Given the description of an element on the screen output the (x, y) to click on. 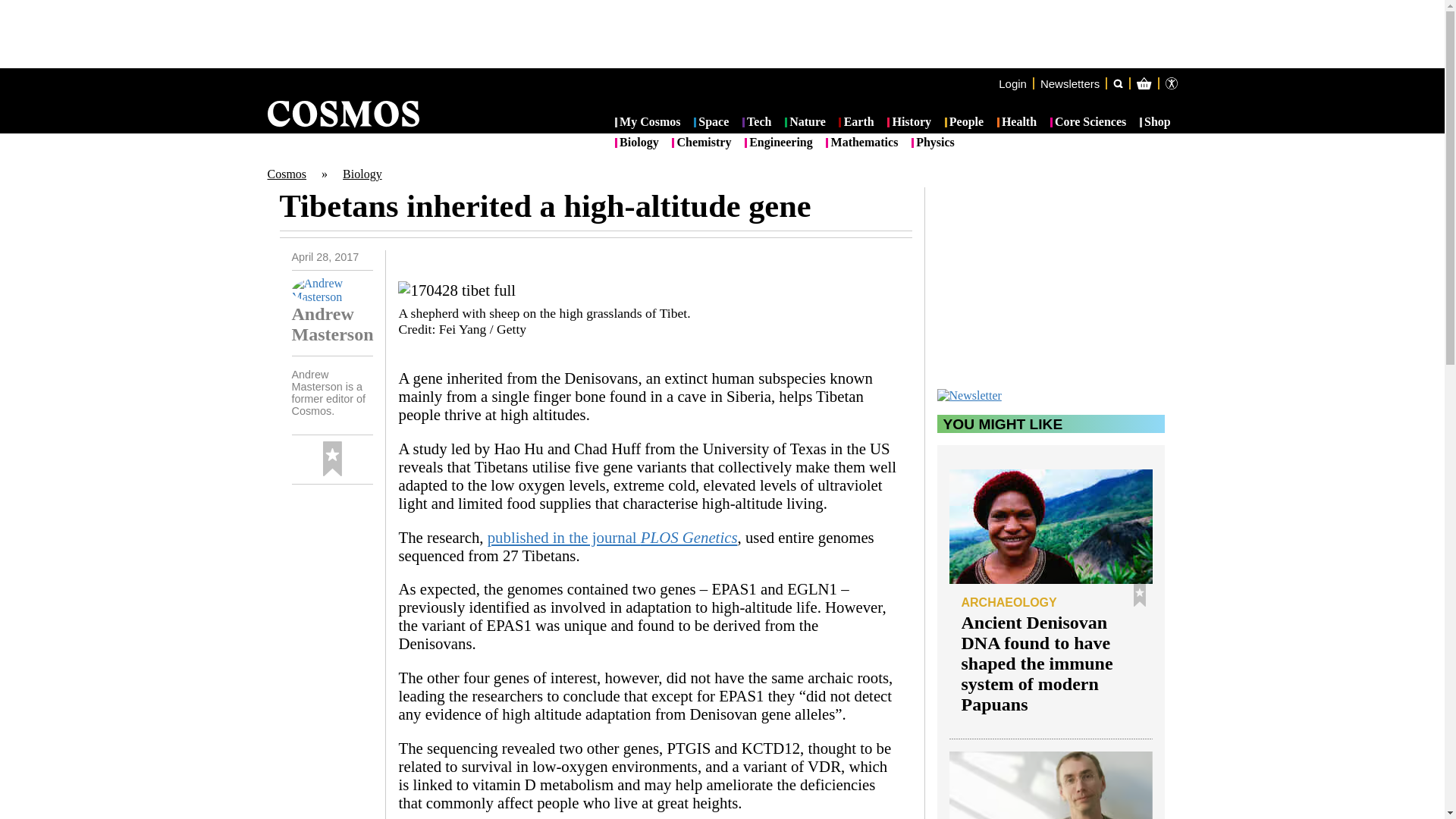
published in the journal (563, 537)
Login (1012, 82)
Health (1016, 122)
Shop (1155, 122)
My Cosmos (647, 122)
Earth (855, 122)
Physics (933, 143)
Biology (361, 173)
Chemistry (700, 143)
People (964, 122)
